Given the description of an element on the screen output the (x, y) to click on. 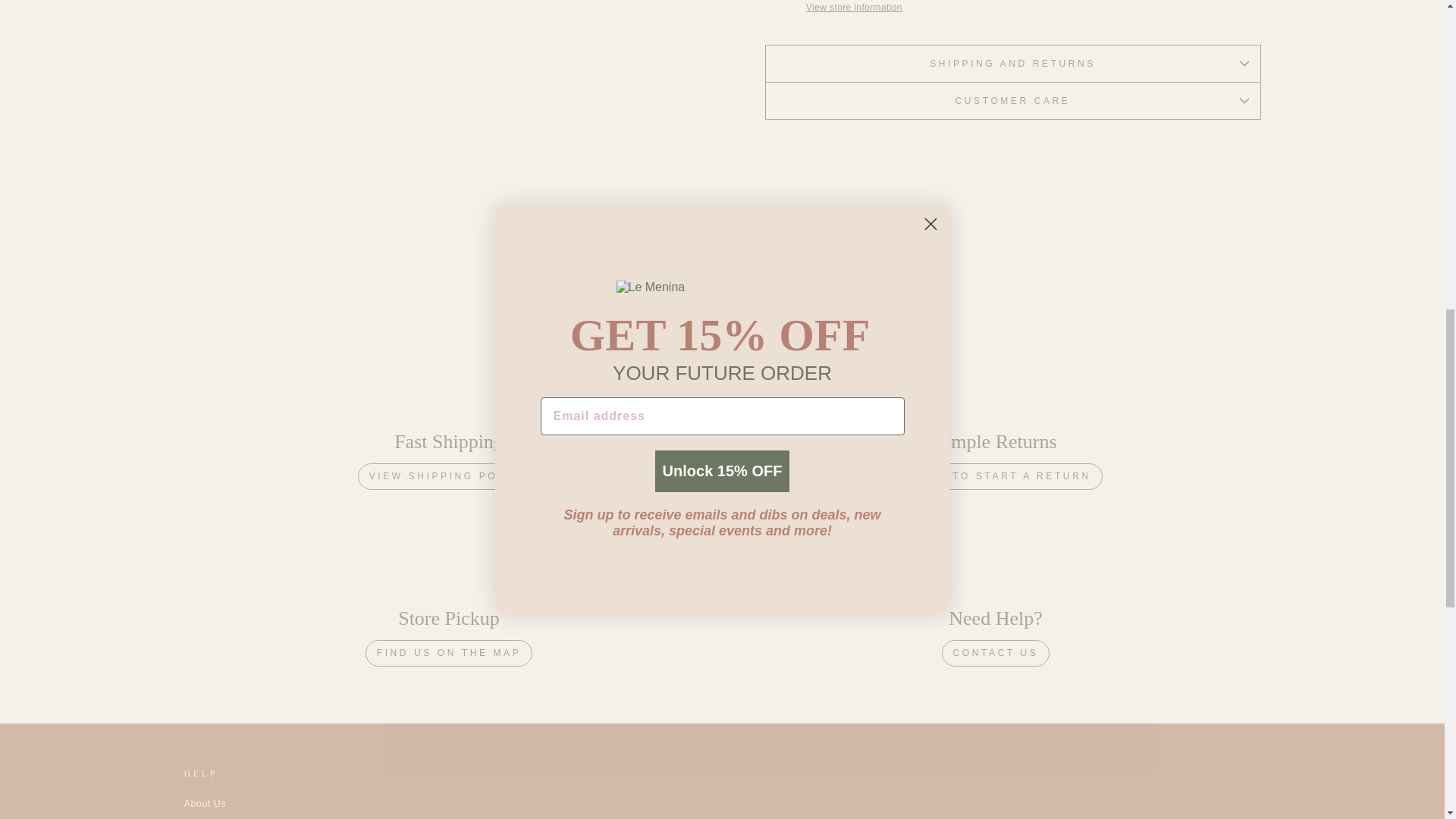
ICON-LEFT-ARROW (635, 253)
